Given the description of an element on the screen output the (x, y) to click on. 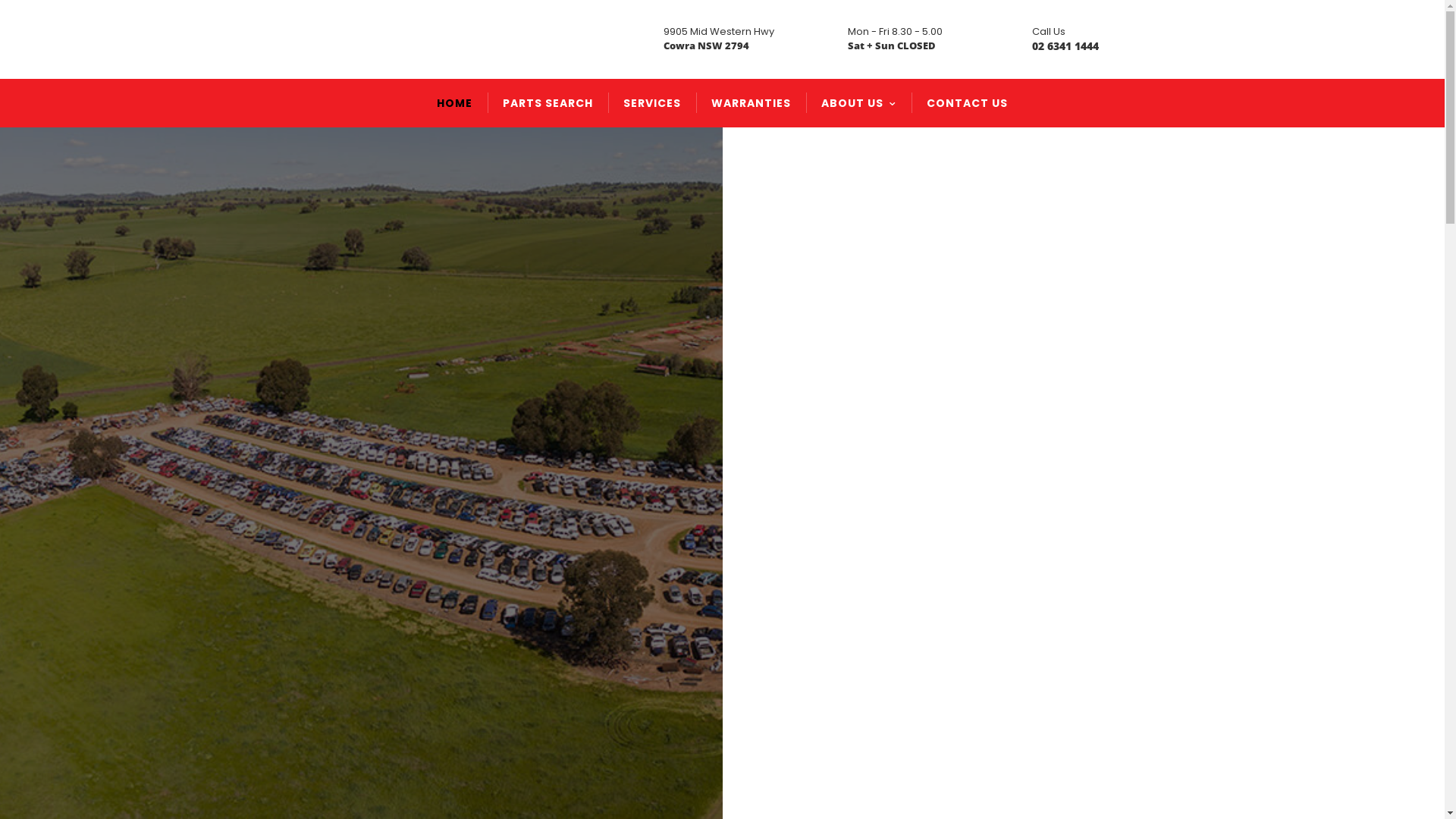
SERVICES Element type: text (652, 102)
Call Us Element type: text (1048, 31)
PARTS SEARCH Element type: text (547, 102)
CONTACT US Element type: text (966, 102)
WARRANTIES Element type: text (751, 102)
ABOUT US Element type: text (858, 102)
HOME Element type: text (454, 102)
